Given the description of an element on the screen output the (x, y) to click on. 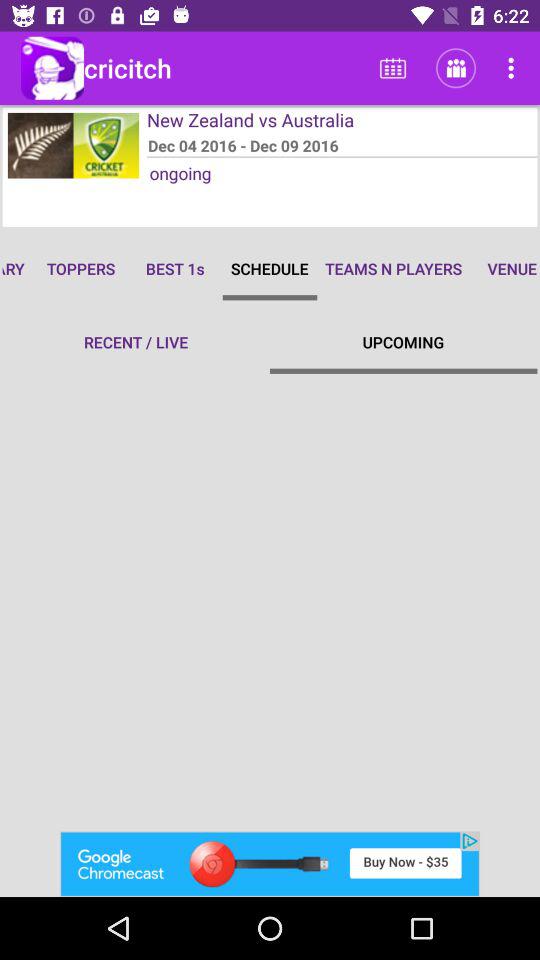
advertisement (270, 864)
